Given the description of an element on the screen output the (x, y) to click on. 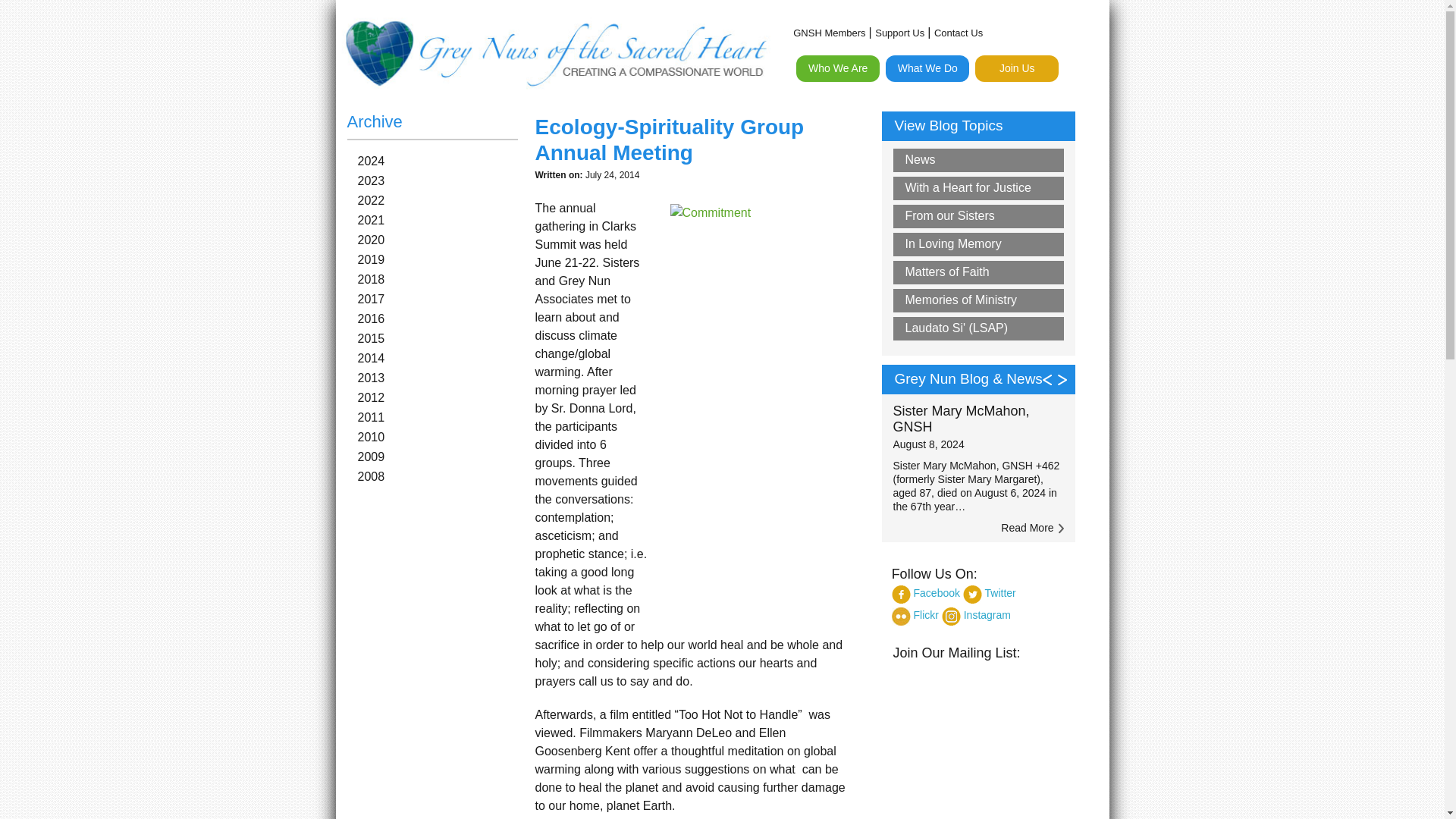
Join Us (1016, 68)
Support Us (899, 33)
2021 (438, 220)
2023 (438, 181)
Contact Us (882, 256)
2017 (438, 299)
2024 (438, 161)
Celebrating our 100th Anniversary 1921-2021 (882, 103)
Our Story (882, 183)
Grey Nun Associates (1061, 145)
